Given the description of an element on the screen output the (x, y) to click on. 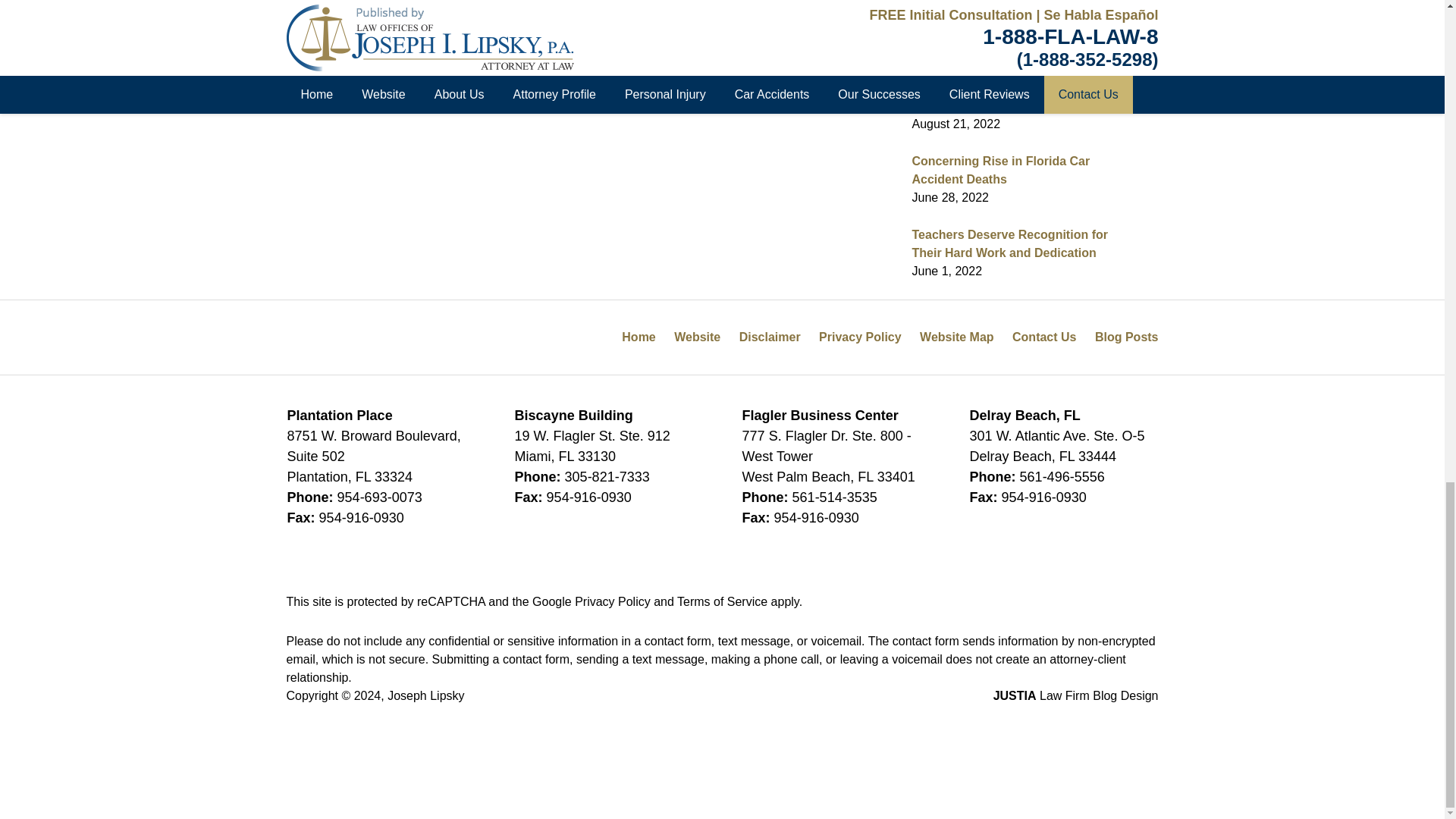
Drivers Remain Distracted Even After Texting When Stopped (322, 48)
Home (388, 48)
